Given the description of an element on the screen output the (x, y) to click on. 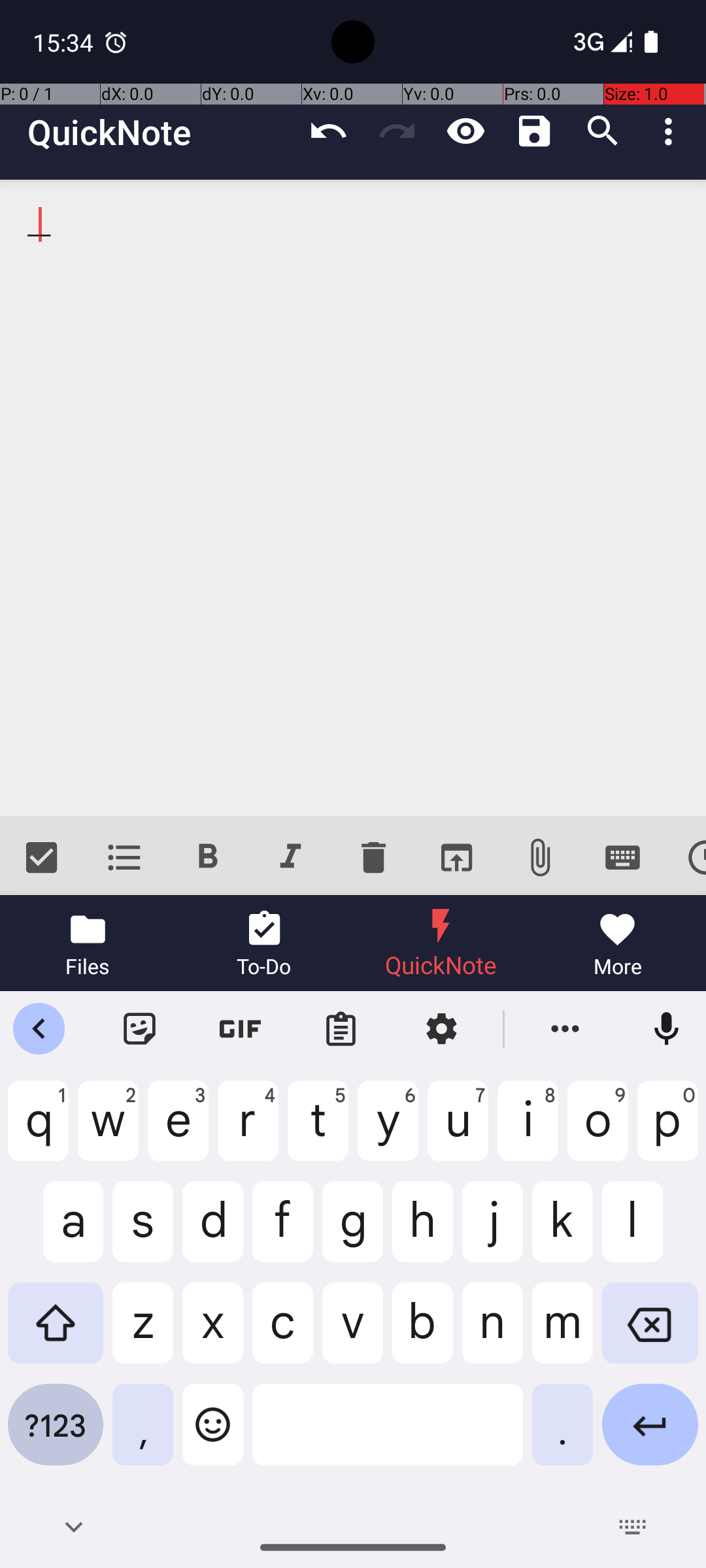
__ Element type: android.widget.EditText (353, 497)
